Given the description of an element on the screen output the (x, y) to click on. 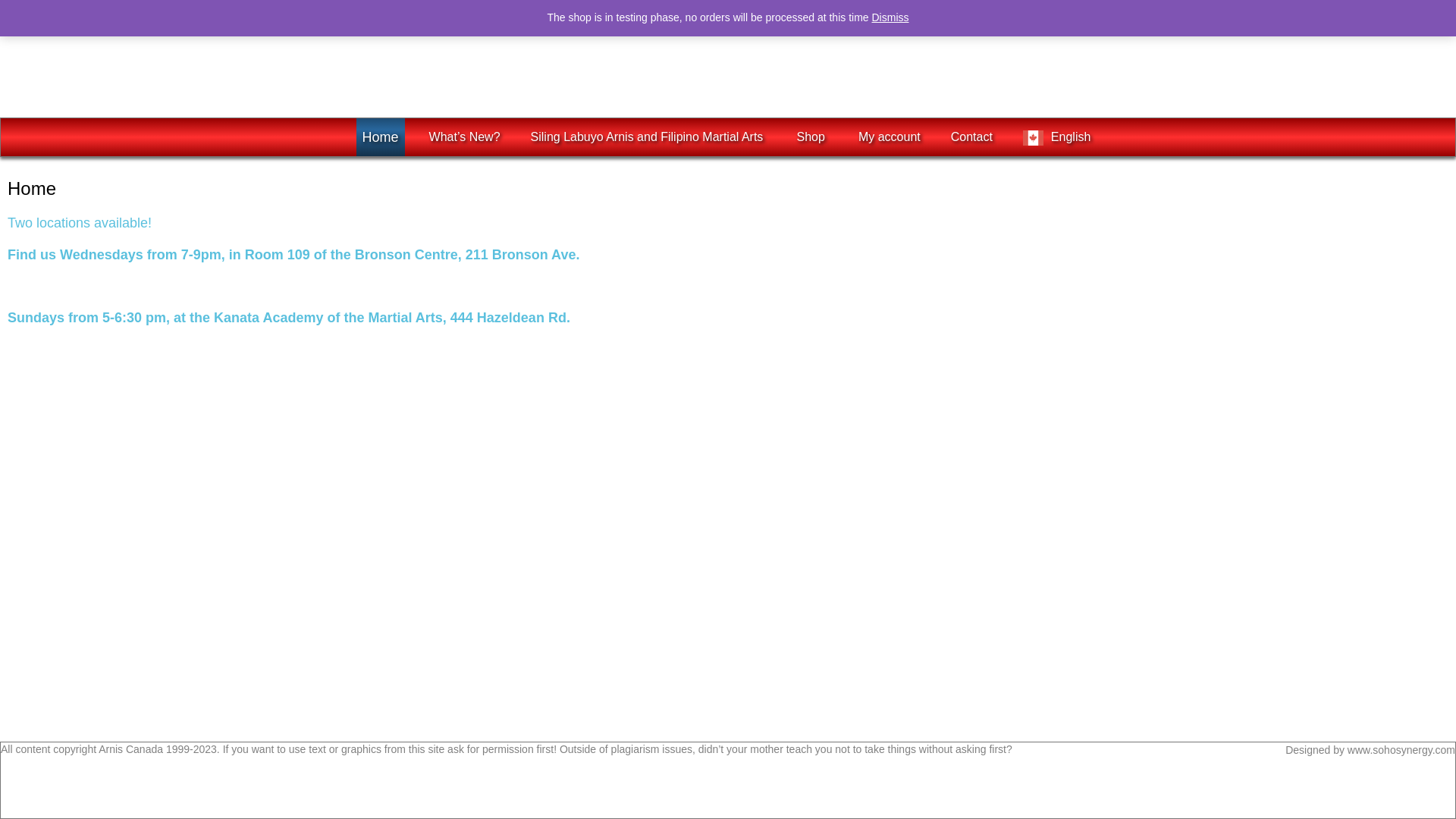
My account Element type: text (889, 137)
Contact Element type: text (971, 137)
Dismiss Element type: text (890, 17)
Siling Labuyo Arnis and Filipino Martial Arts Element type: text (648, 137)
Home Element type: text (380, 137)
English Element type: text (1058, 137)
Shop Element type: text (811, 137)
